Given the description of an element on the screen output the (x, y) to click on. 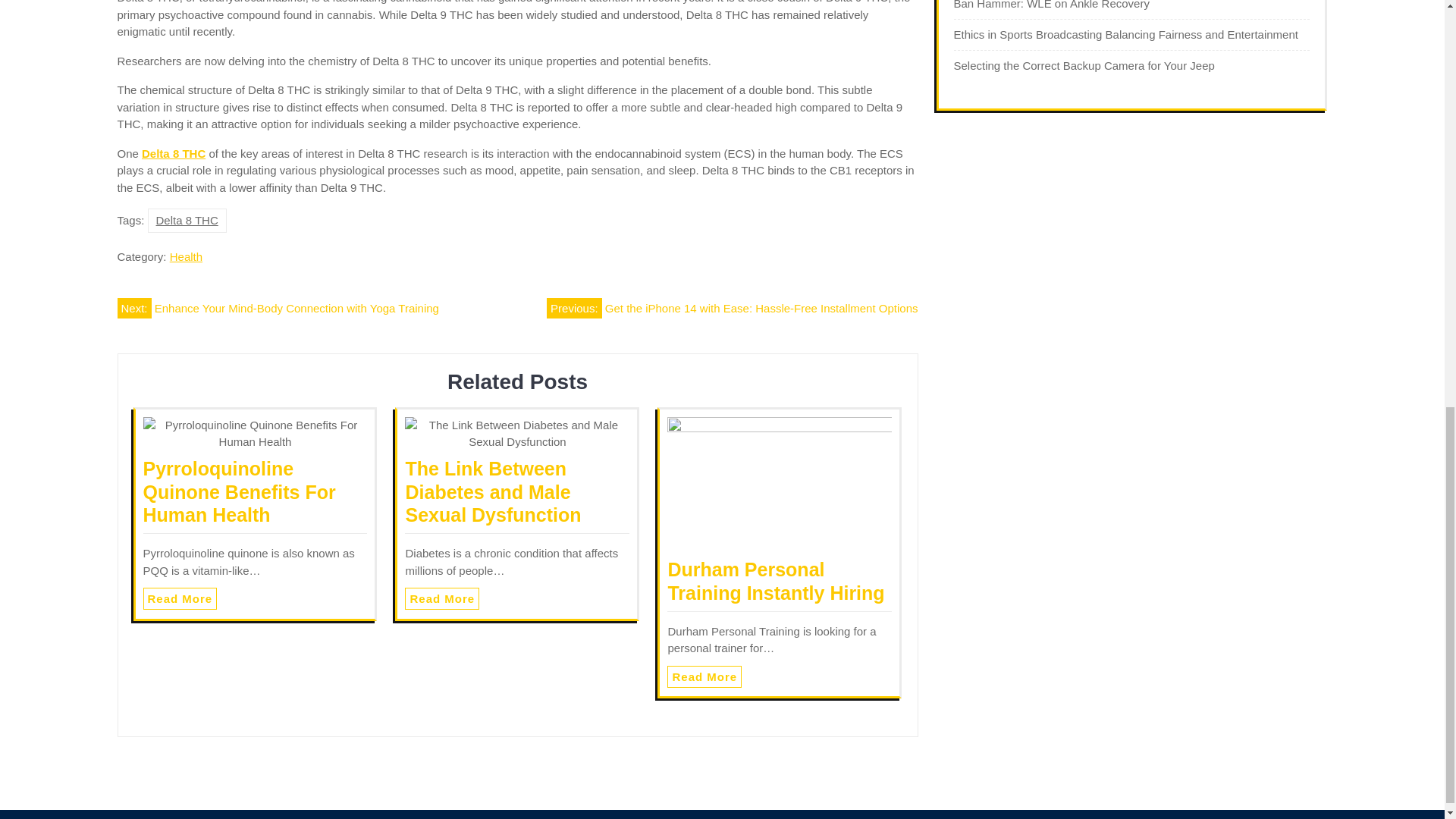
Read More (703, 676)
Next: Enhance Your Mind-Body Connection with Yoga Training (277, 308)
Durham Personal Training Instantly Hiring (774, 580)
Read More (703, 676)
Delta 8 THC (173, 153)
Pyrroloquinoline Quinone Benefits For Human Health (238, 491)
Read More (441, 598)
Delta 8 THC (187, 220)
Health (186, 256)
Pyrroloquinoline Quinone Benefits For Human Health (238, 491)
The Link Between Diabetes and Male Sexual Dysfunction (492, 491)
Read More (179, 598)
The Link Between Diabetes and Male Sexual Dysfunction (492, 491)
